Given the description of an element on the screen output the (x, y) to click on. 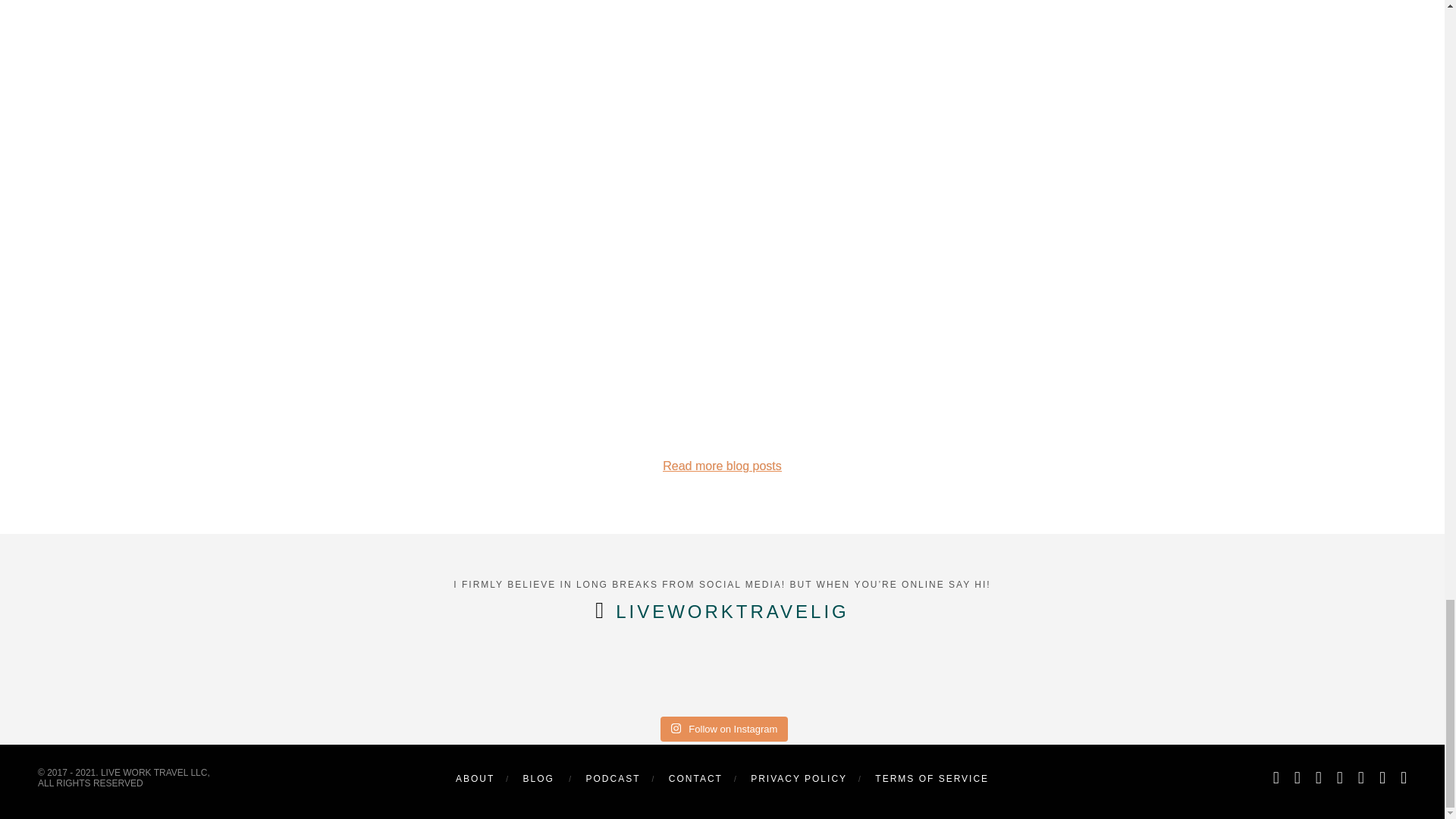
ABOUT (475, 778)
LIVEWORKTRAVELIG (731, 611)
Follow on Instagram (725, 729)
BLOG (537, 778)
Read more blog posts (721, 465)
